Given the description of an element on the screen output the (x, y) to click on. 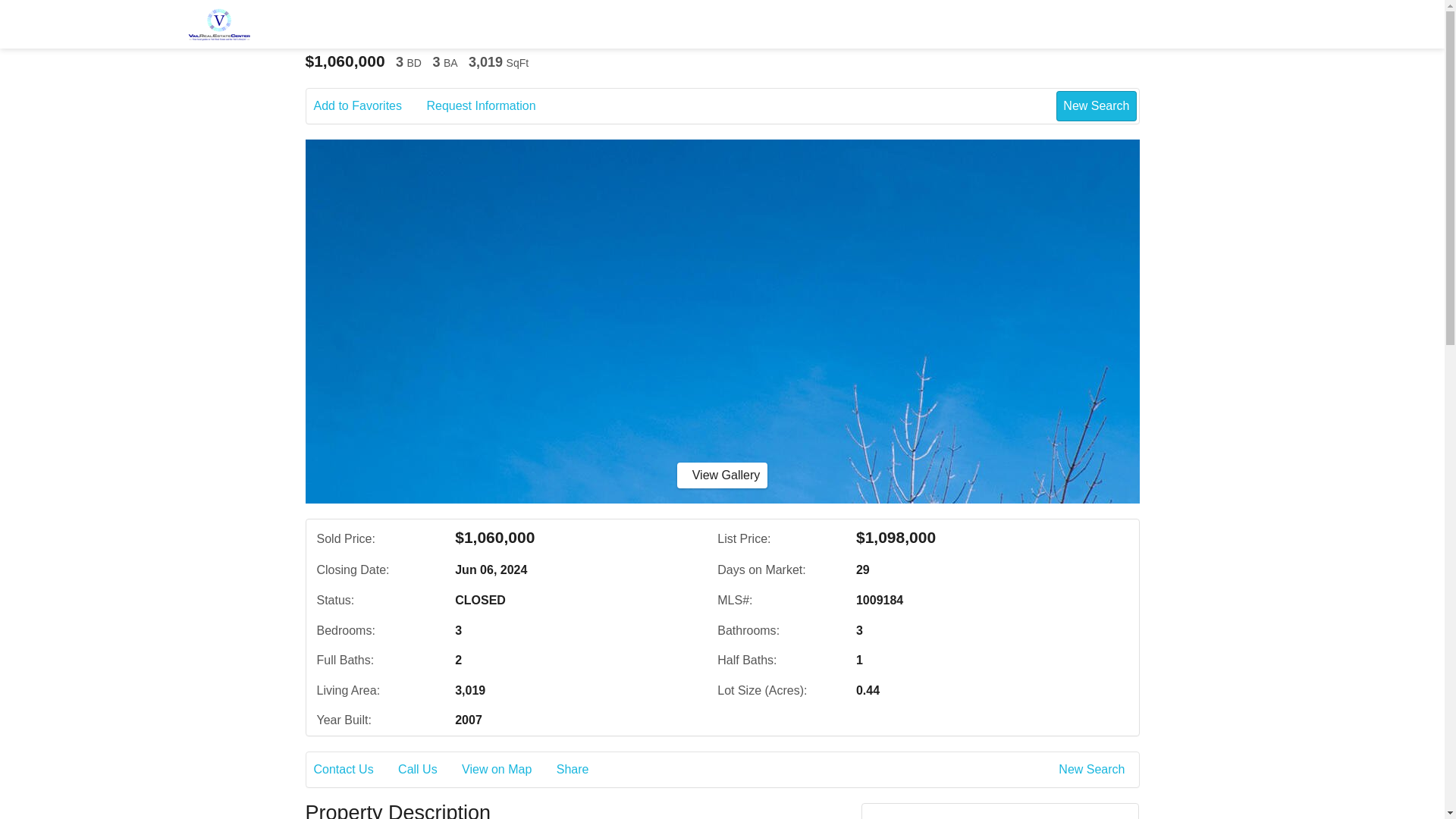
Add to Favorites (368, 106)
View on Map (507, 769)
Share (583, 769)
Open contact form (1133, 23)
New Search (1094, 769)
View Gallery (722, 474)
Request Information (491, 106)
Call Us (427, 769)
Menu (1242, 23)
New Search (1096, 105)
